Given the description of an element on the screen output the (x, y) to click on. 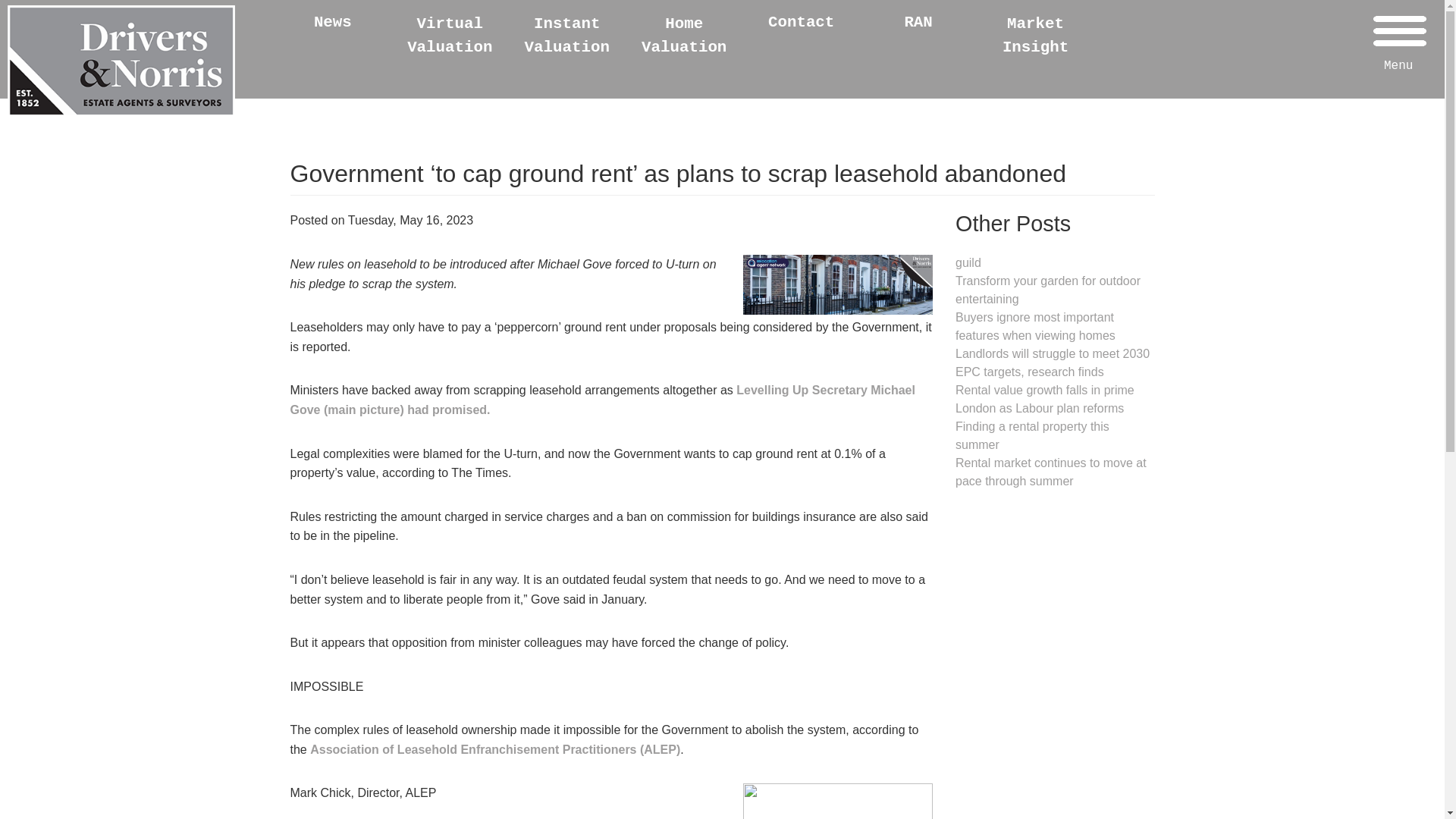
guild (968, 262)
RAN (917, 22)
Virtual Valuation (449, 35)
Instant Valuation (567, 35)
Finding a rental property this summer (1032, 435)
Transform your garden for outdoor entertaining (1047, 289)
Home Valuation (684, 35)
Rental market continues to move at pace through summer (1051, 471)
News (333, 22)
